Given the description of an element on the screen output the (x, y) to click on. 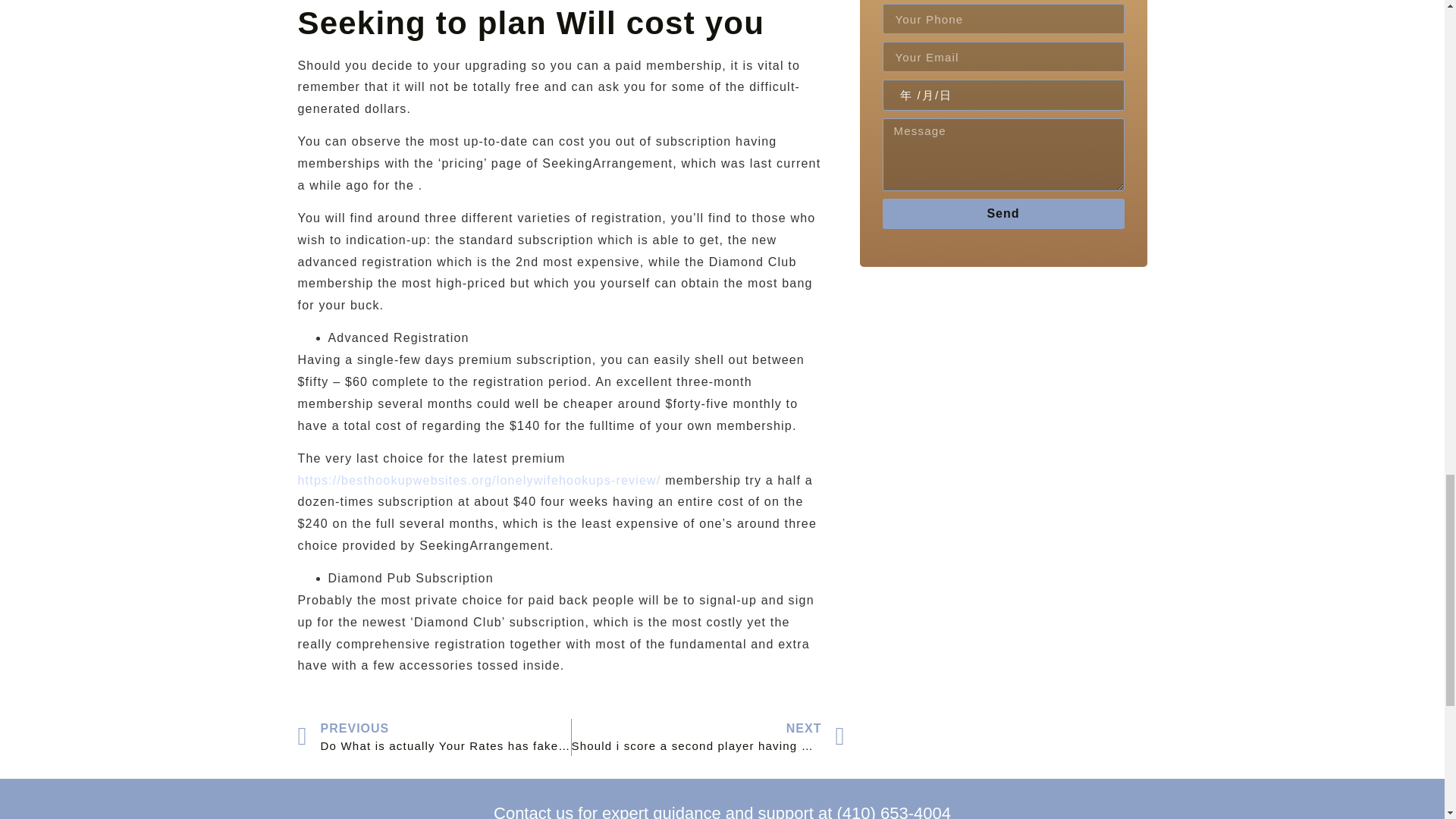
Send (1003, 214)
